Given the description of an element on the screen output the (x, y) to click on. 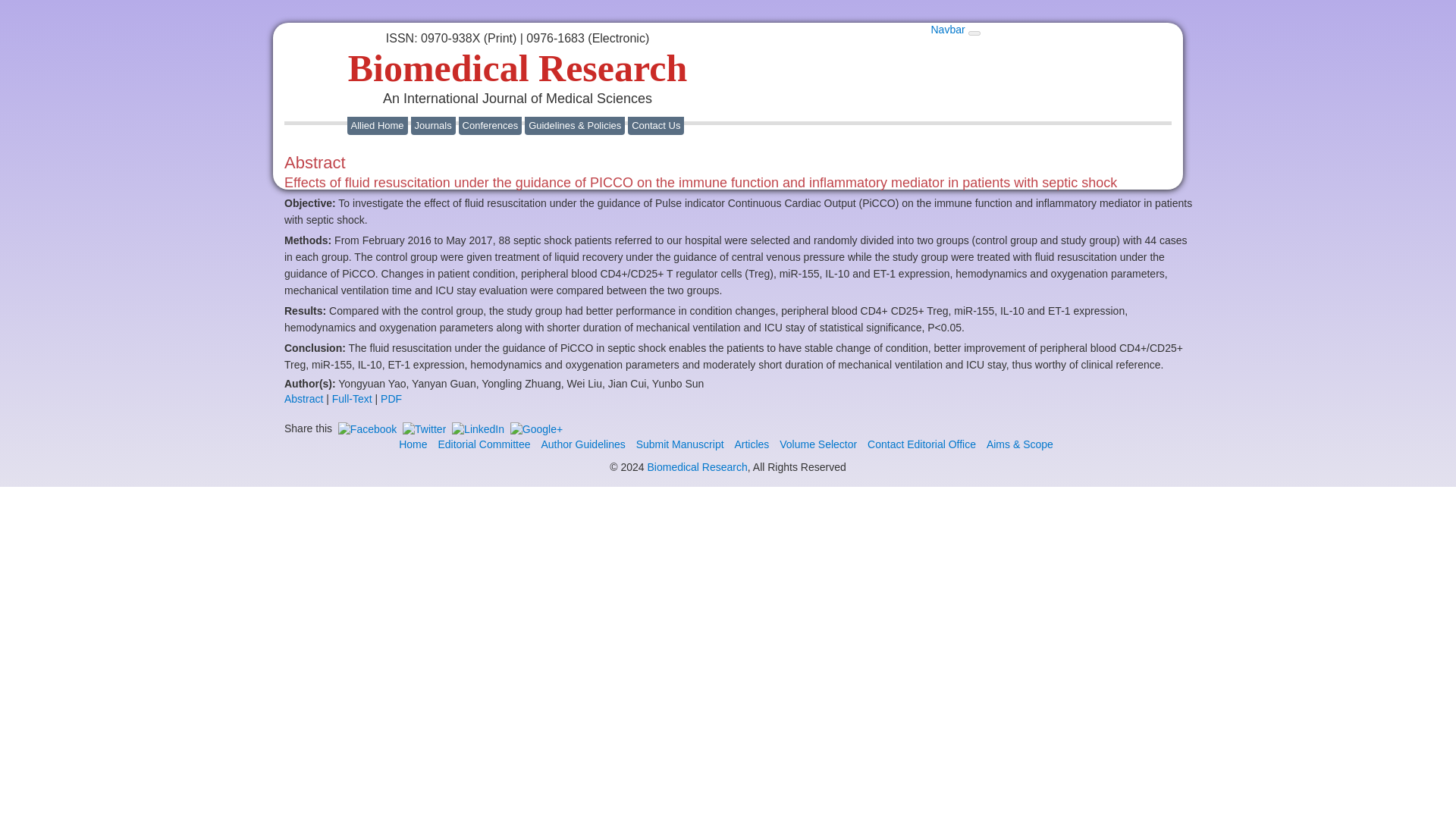
Click here (483, 444)
Click here (738, 183)
Allied Conferences (490, 125)
Navbar (946, 29)
Full-Text (351, 398)
Click here (679, 444)
Contact Editorial Office (921, 444)
Share with Facebook (366, 428)
Click here (921, 444)
Abstract (303, 398)
Click here (750, 444)
Contact Us (655, 125)
Conferences (490, 125)
Click here (412, 444)
